Given the description of an element on the screen output the (x, y) to click on. 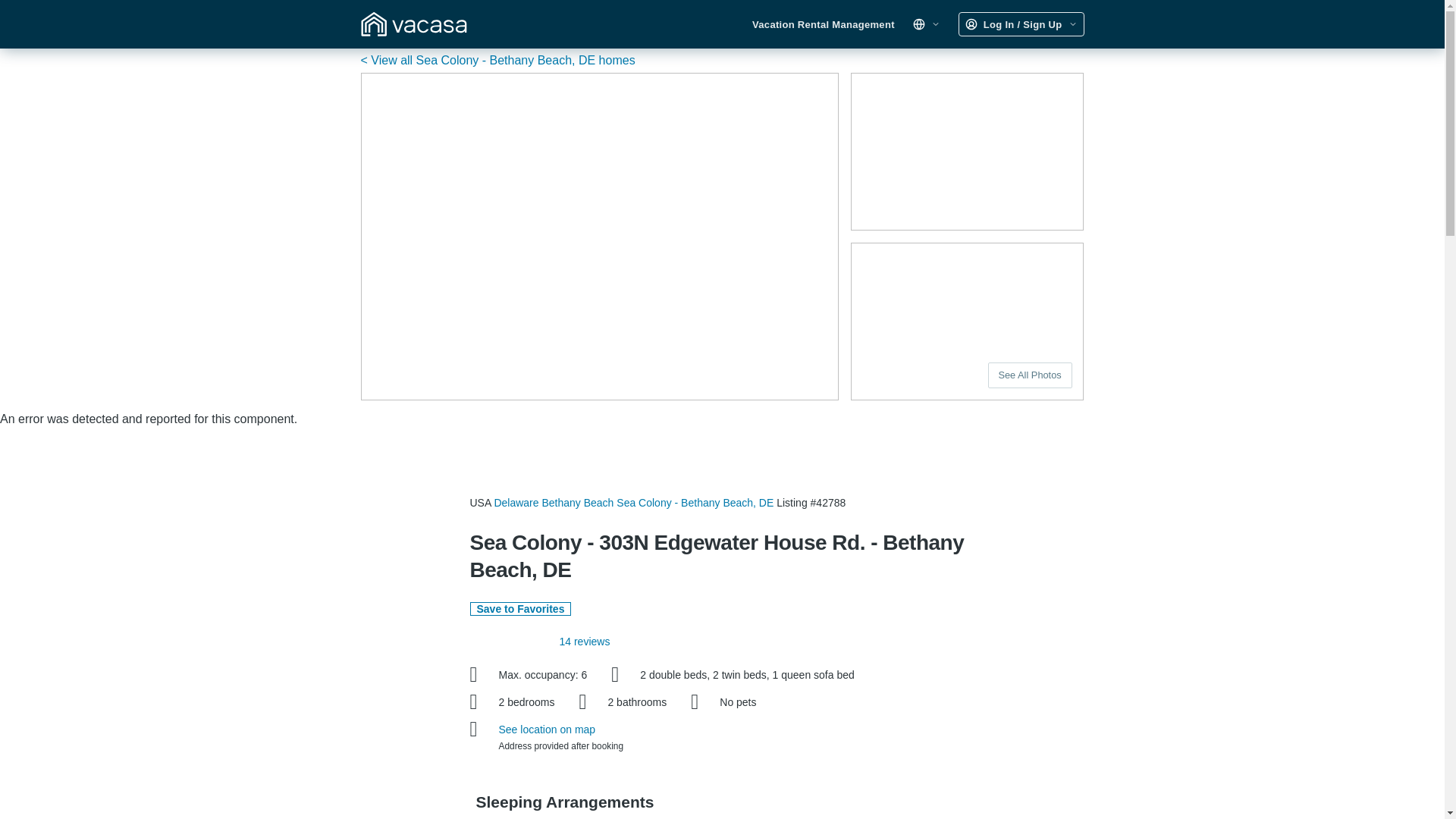
Bethany Beach (576, 502)
See location on map (547, 729)
Save to Favorites (521, 608)
Delaware (515, 502)
Click to add this home to your Favorites (521, 608)
14 reviews (584, 641)
Sea Colony - Bethany Beach, DE (694, 502)
See All Photos (1029, 375)
Vacation Rental Management (823, 24)
